Given the description of an element on the screen output the (x, y) to click on. 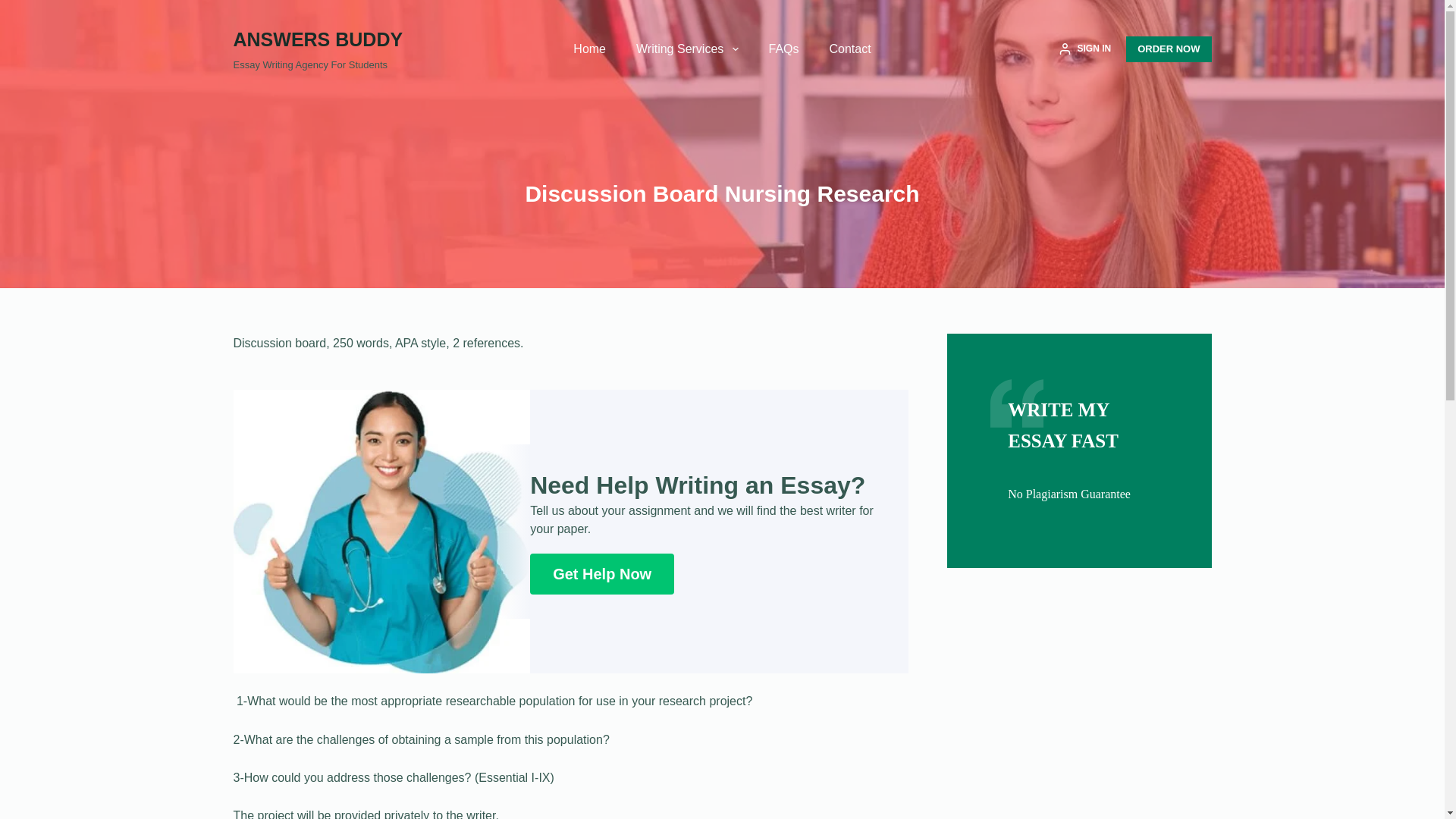
Get Help Now (601, 573)
Skip to content (15, 7)
Writing Services (686, 49)
ORDER NOW (1168, 49)
Discussion Board Nursing Research (721, 192)
SIGN IN (1084, 48)
ANSWERS BUDDY (317, 38)
